Given the description of an element on the screen output the (x, y) to click on. 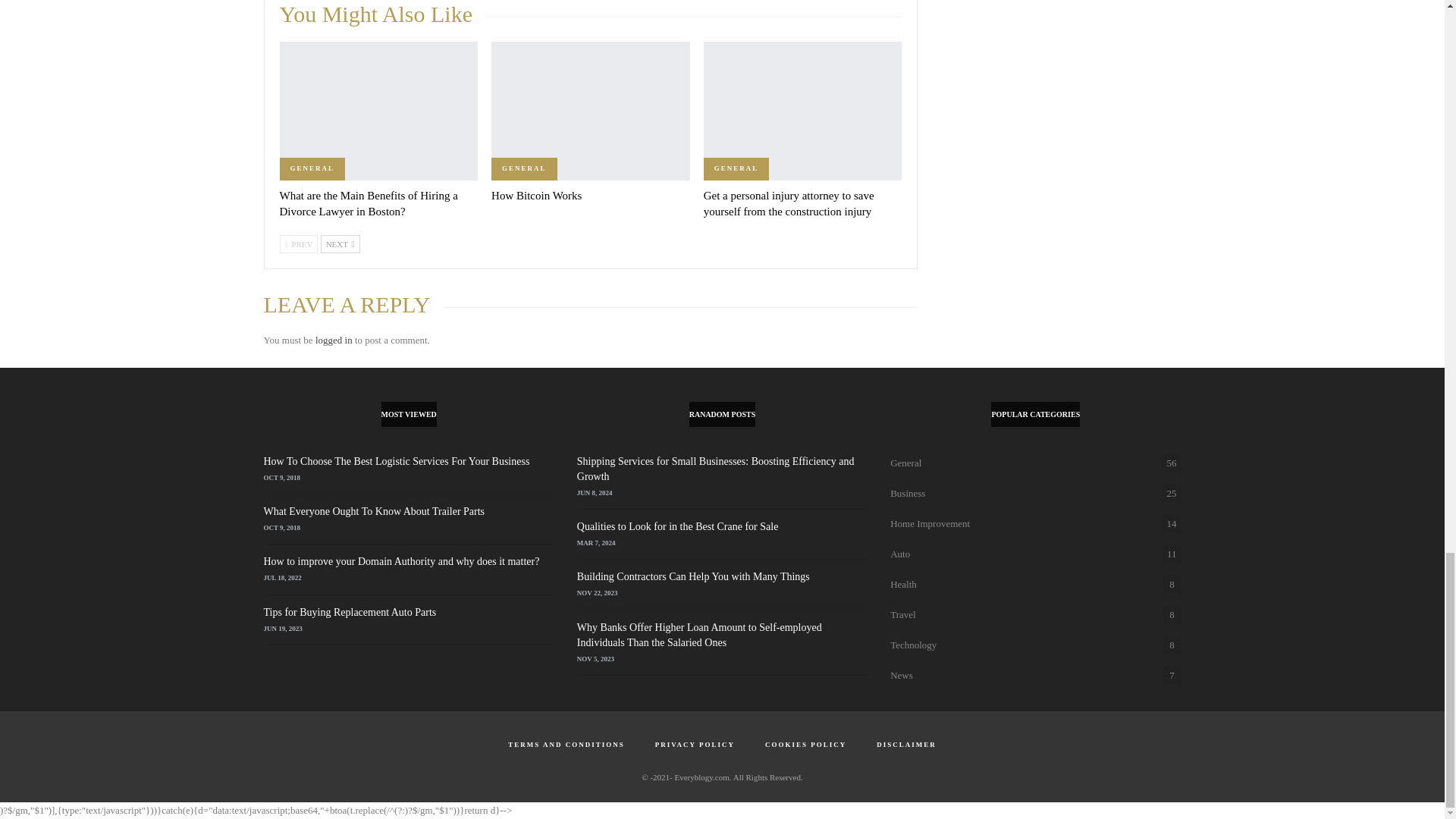
GENERAL (524, 169)
PREV (298, 244)
How Bitcoin Works (536, 195)
How Bitcoin Works (536, 195)
How Bitcoin Works (591, 110)
GENERAL (736, 169)
Previous (298, 244)
NEXT (339, 244)
You Might Also Like (381, 17)
GENERAL (312, 169)
